Given the description of an element on the screen output the (x, y) to click on. 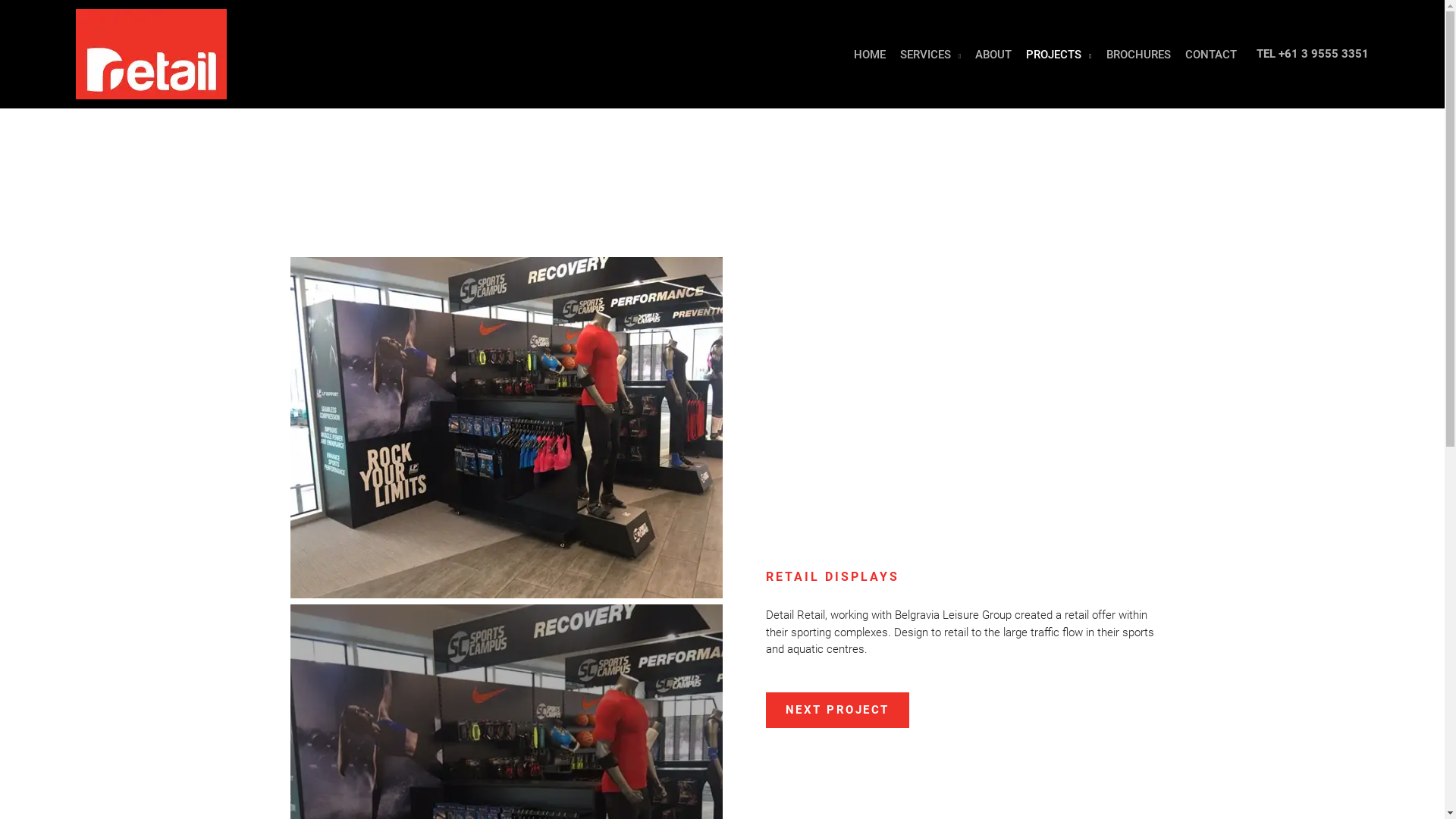
HOME Element type: text (862, 54)
PROJECTS Element type: text (1051, 54)
SERVICES Element type: text (922, 54)
NEXT PROJECT Element type: text (837, 710)
ABOUT Element type: text (985, 54)
CONTACT Element type: text (1203, 54)
BROCHURES Element type: text (1131, 54)
